Given the description of an element on the screen output the (x, y) to click on. 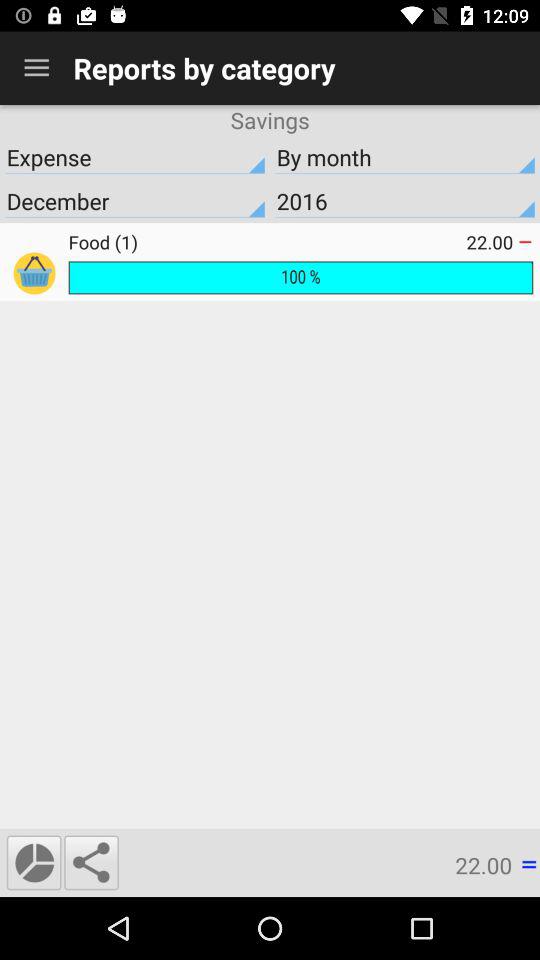
press item next to the 22.00 item (91, 862)
